Given the description of an element on the screen output the (x, y) to click on. 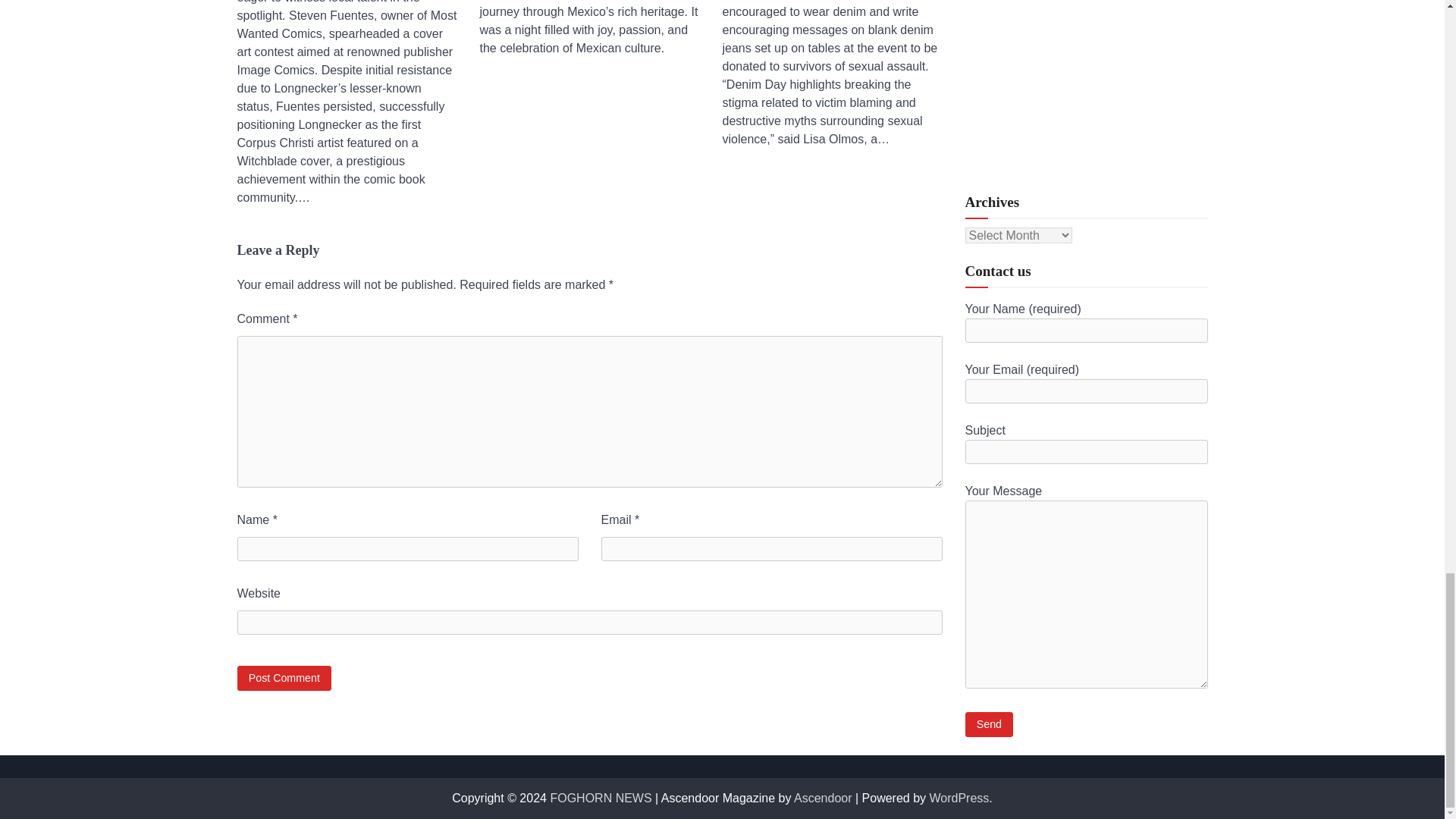
Ascendoor (822, 797)
Post Comment (283, 678)
Post Comment (283, 678)
FOGHORN NEWS (600, 797)
WordPress (960, 797)
